Given the description of an element on the screen output the (x, y) to click on. 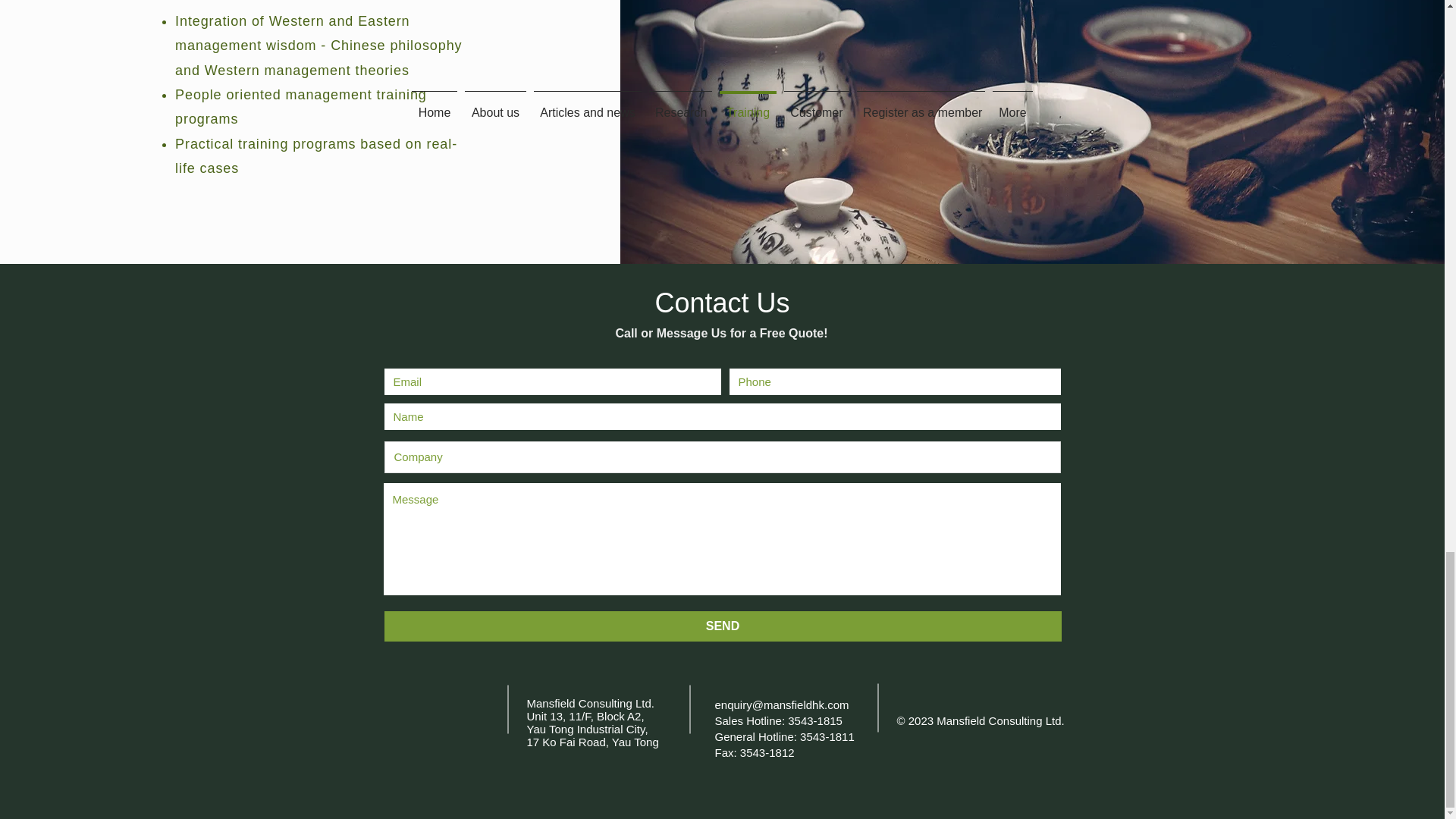
SEND (722, 625)
